Given the description of an element on the screen output the (x, y) to click on. 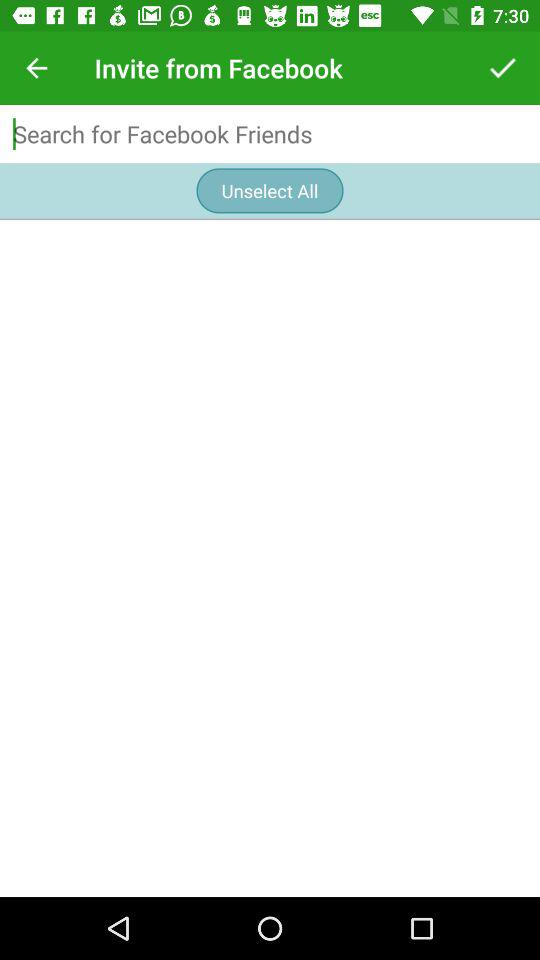
press the item at the top right corner (503, 67)
